Given the description of an element on the screen output the (x, y) to click on. 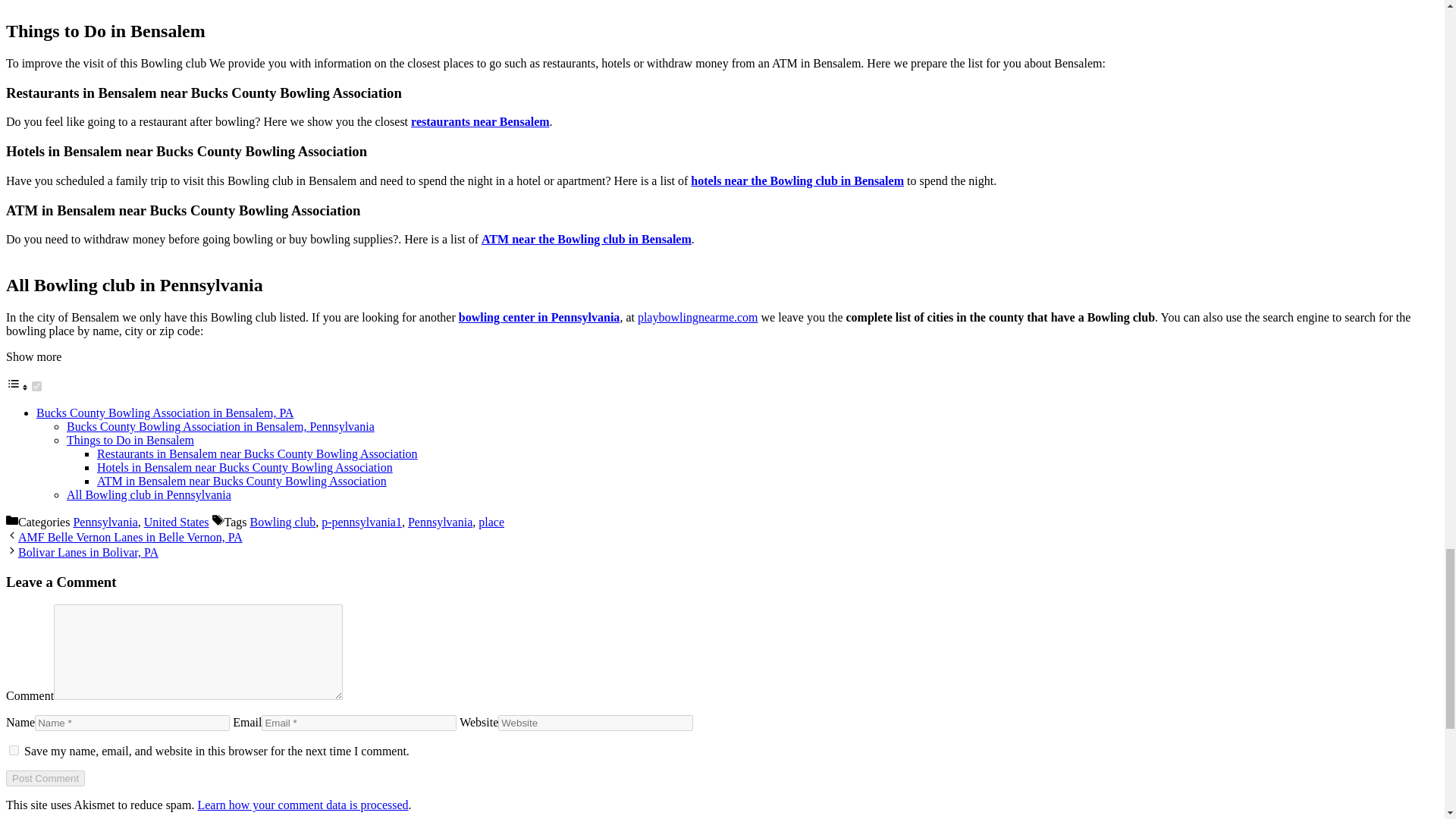
Things to Do in Bensalem (129, 440)
Hotels in Bensalem near Bucks County Bowling Association (245, 467)
Bucks County Bowling Association in Bensalem, Pennsylvania (220, 426)
Bucks County Bowling Association in Bensalem, PA (165, 412)
Post Comment (44, 778)
yes (13, 750)
ATM in Bensalem near Bucks County Bowling Association (242, 481)
on (37, 386)
All Bowling club in Pennsylvania (148, 494)
